Given the description of an element on the screen output the (x, y) to click on. 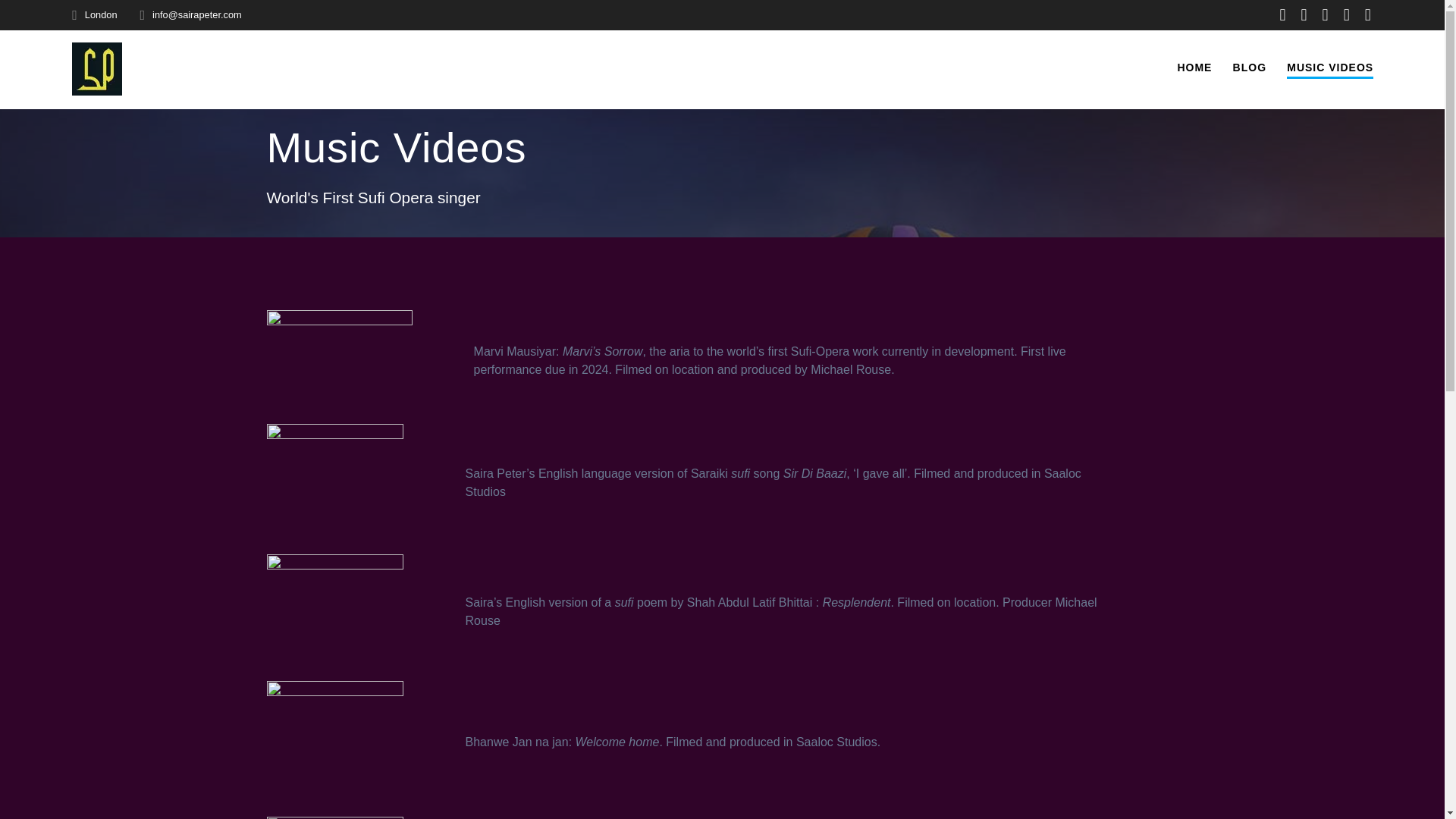
HOME (1193, 67)
BLOG (1249, 67)
MUSIC VIDEOS (1330, 67)
